Given the description of an element on the screen output the (x, y) to click on. 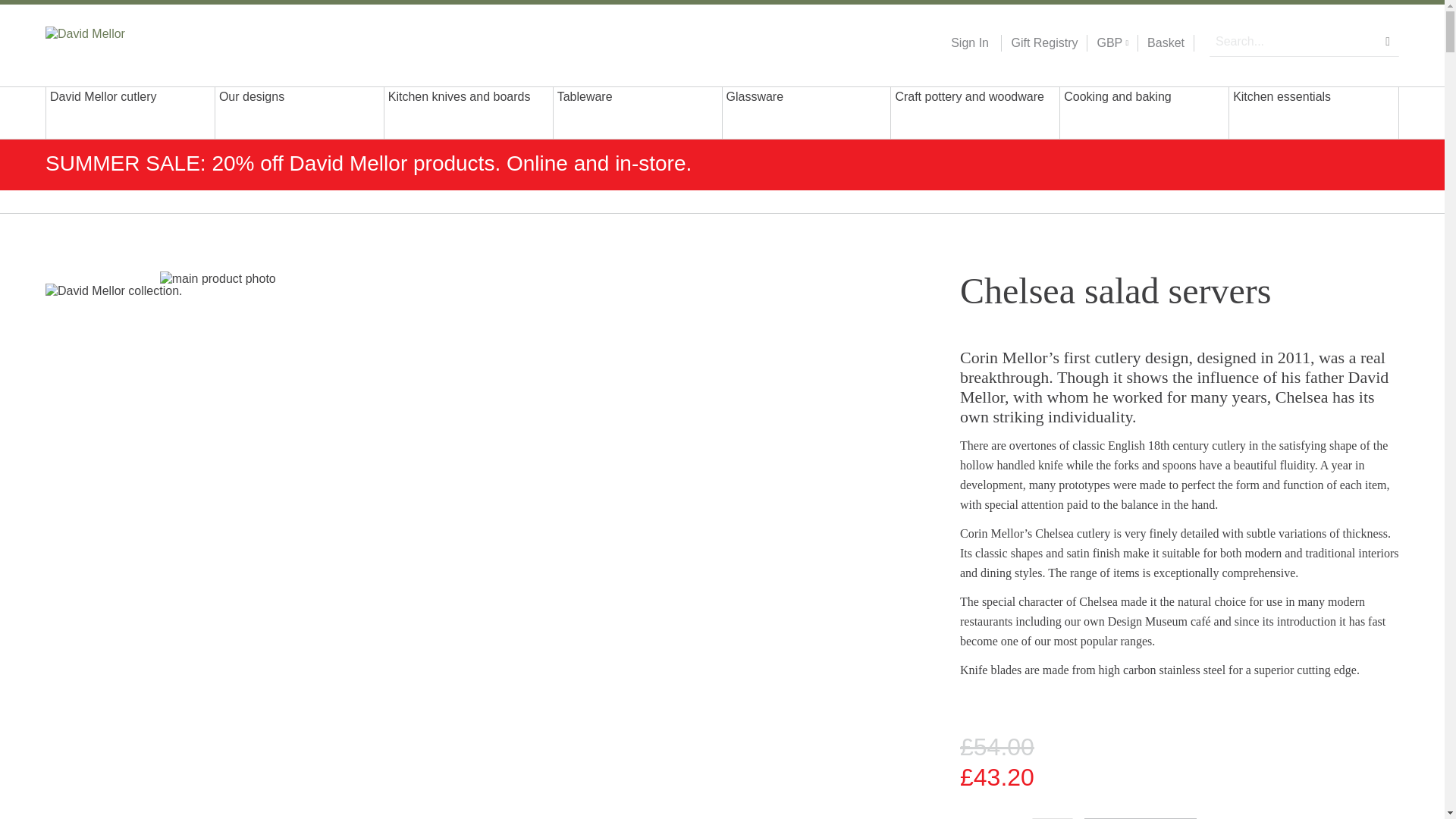
Search (1388, 41)
Basket (1166, 43)
David Mellor cutlery (130, 112)
Qty (1052, 818)
Search (1388, 41)
1 (1052, 818)
David Mellor (143, 42)
Sign In (969, 43)
Gift Registry (1039, 43)
